Given the description of an element on the screen output the (x, y) to click on. 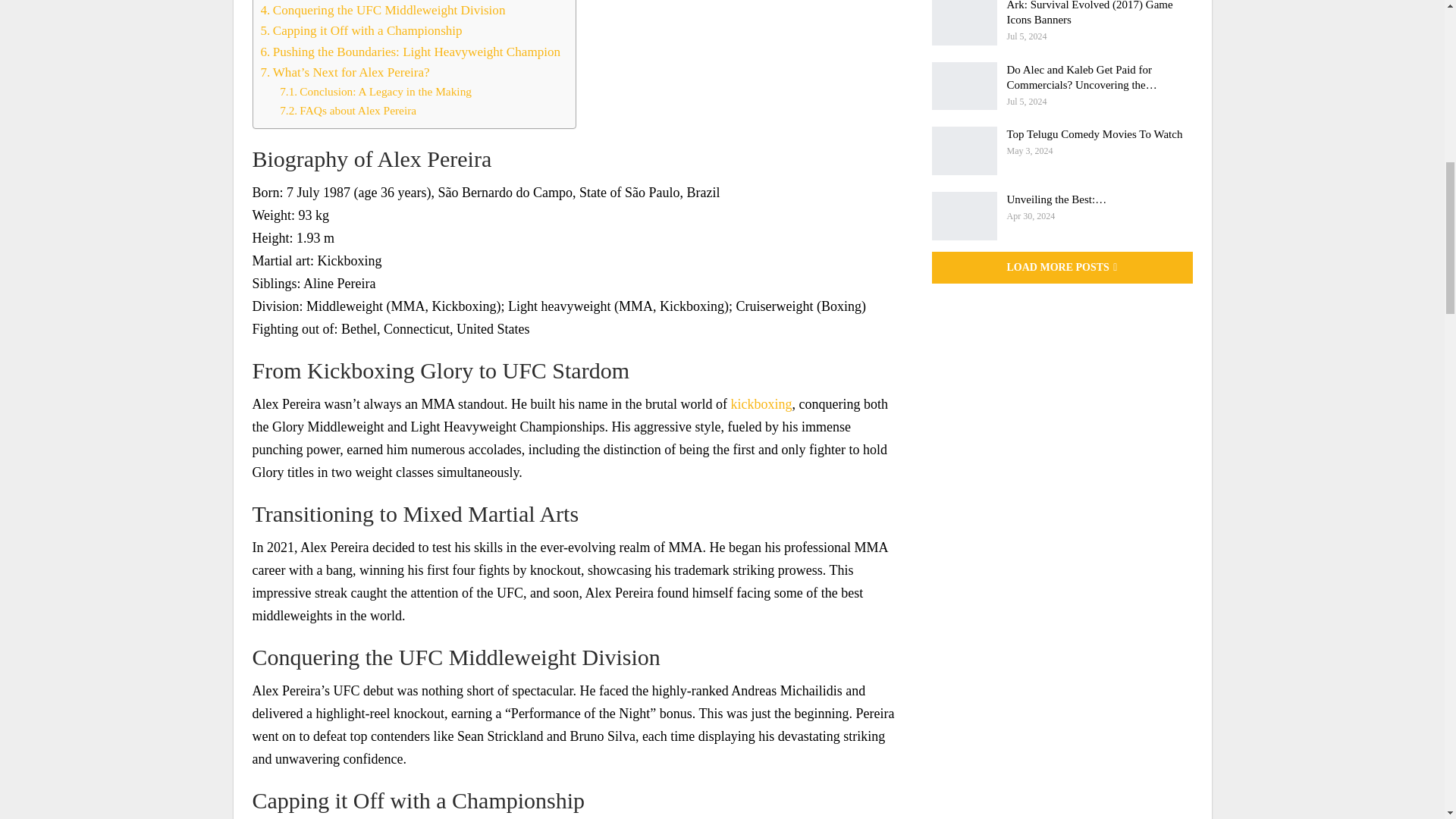
Pushing the Boundaries: Light Heavyweight Champion (410, 51)
Conclusion: A Legacy in the Making (375, 91)
Capping it Off with a Championship (361, 30)
FAQs about Alex Pereira (347, 110)
Conquering the UFC Middleweight Division (382, 10)
